Given the description of an element on the screen output the (x, y) to click on. 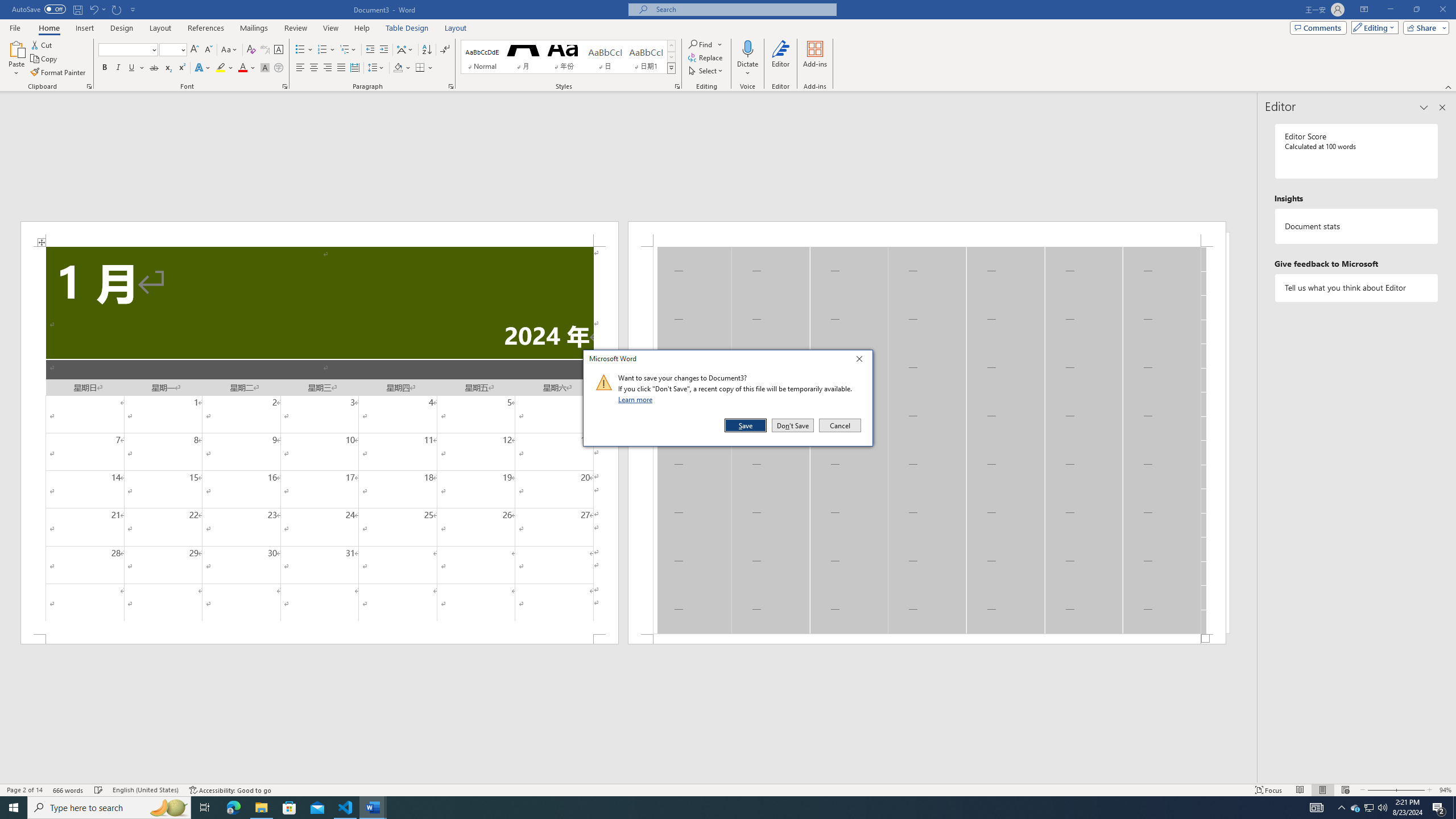
Don't Save (792, 425)
File Explorer - 1 running window (261, 807)
Word Count 666 words (68, 790)
